Given the description of an element on the screen output the (x, y) to click on. 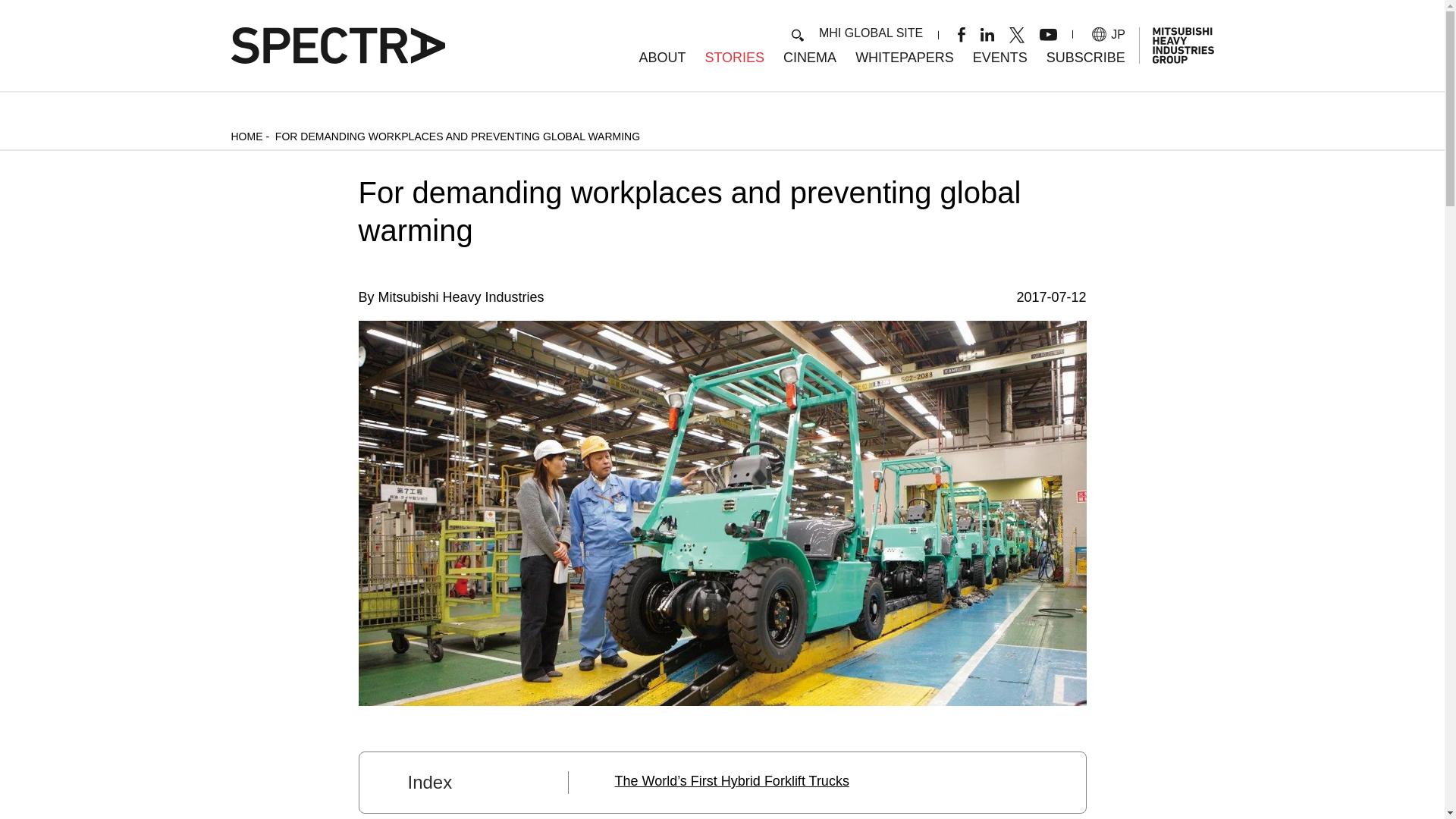
SUBSCRIBE (1085, 57)
MHI GLOBAL SITE (870, 32)
HOME (246, 136)
MHI Group at COP28 (999, 57)
WHITEPAPERS (904, 57)
JP (1108, 34)
EVENTS (999, 57)
STORIES (734, 57)
ABOUT (662, 57)
CINEMA (809, 57)
